Given the description of an element on the screen output the (x, y) to click on. 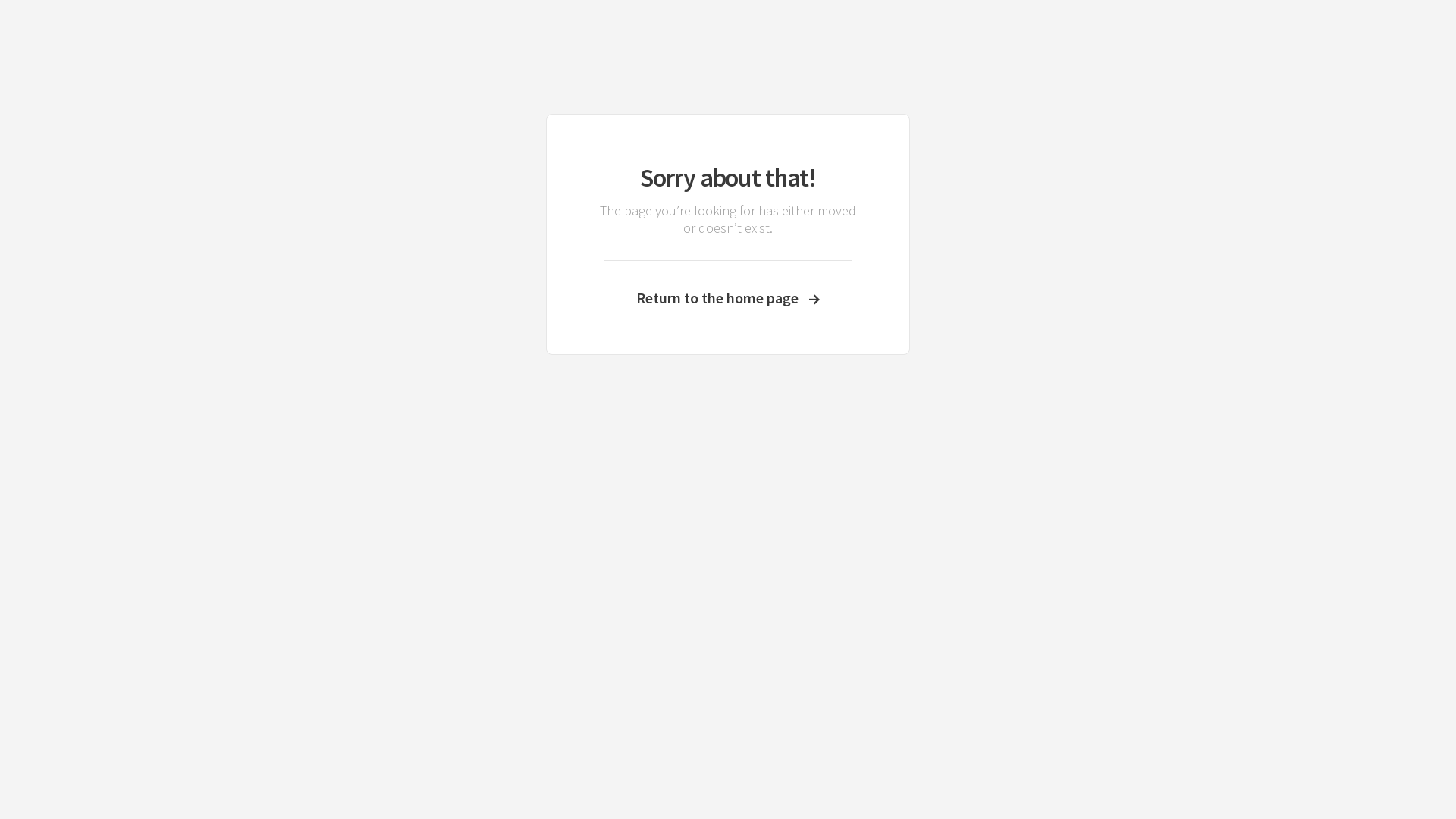
Return to the home page Element type: text (727, 297)
